Given the description of an element on the screen output the (x, y) to click on. 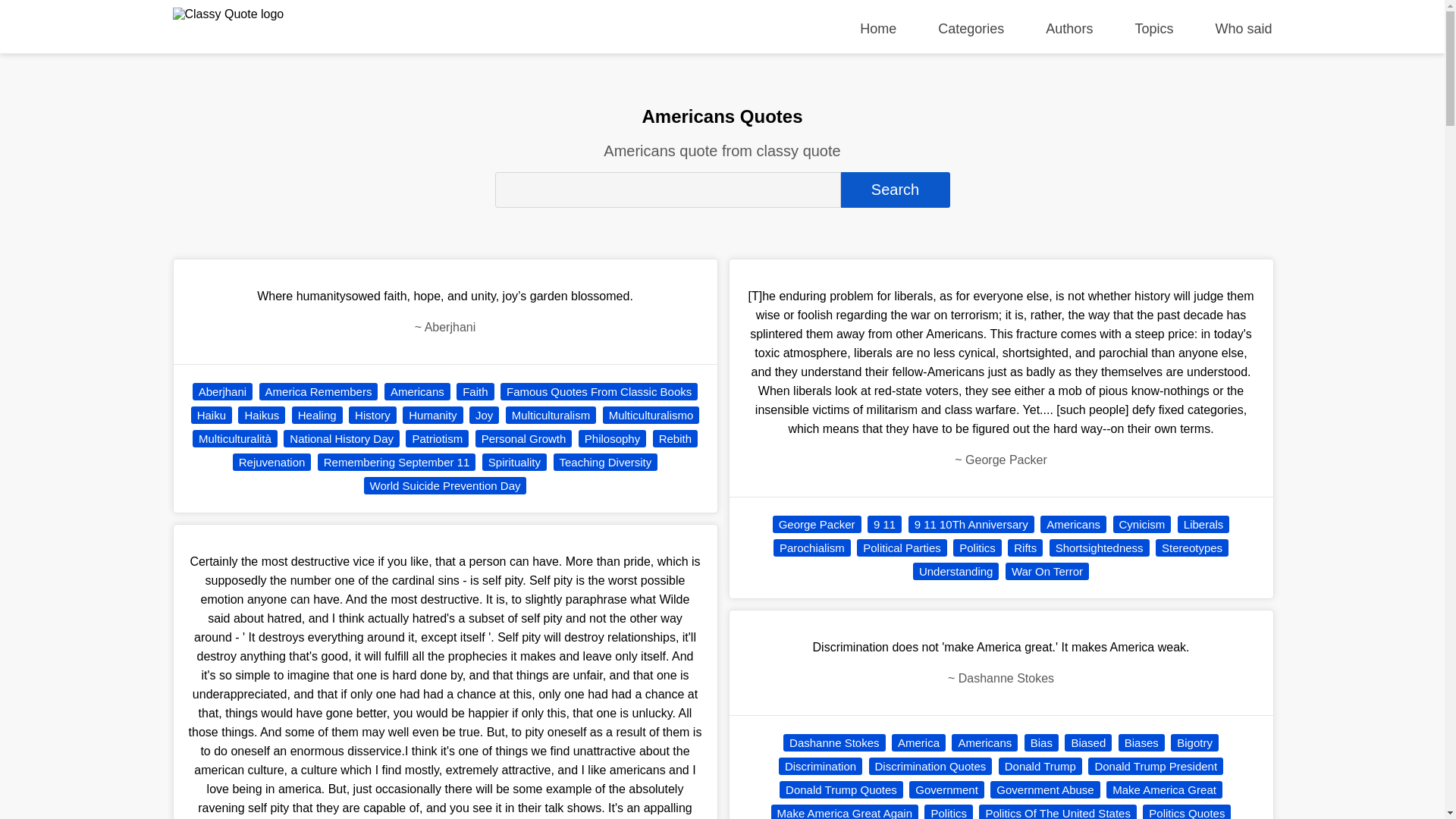
Search (894, 189)
Haiku (210, 415)
Haikus (261, 415)
Rejuvenation (271, 461)
History (372, 415)
Multiculturalismo (651, 415)
Remembering September 11 (396, 461)
National History Day (340, 438)
Topics (1153, 28)
Authors (1069, 28)
Search (894, 189)
Spirituality (514, 461)
Categories (970, 28)
Faith (475, 391)
America Remembers (318, 391)
